Given the description of an element on the screen output the (x, y) to click on. 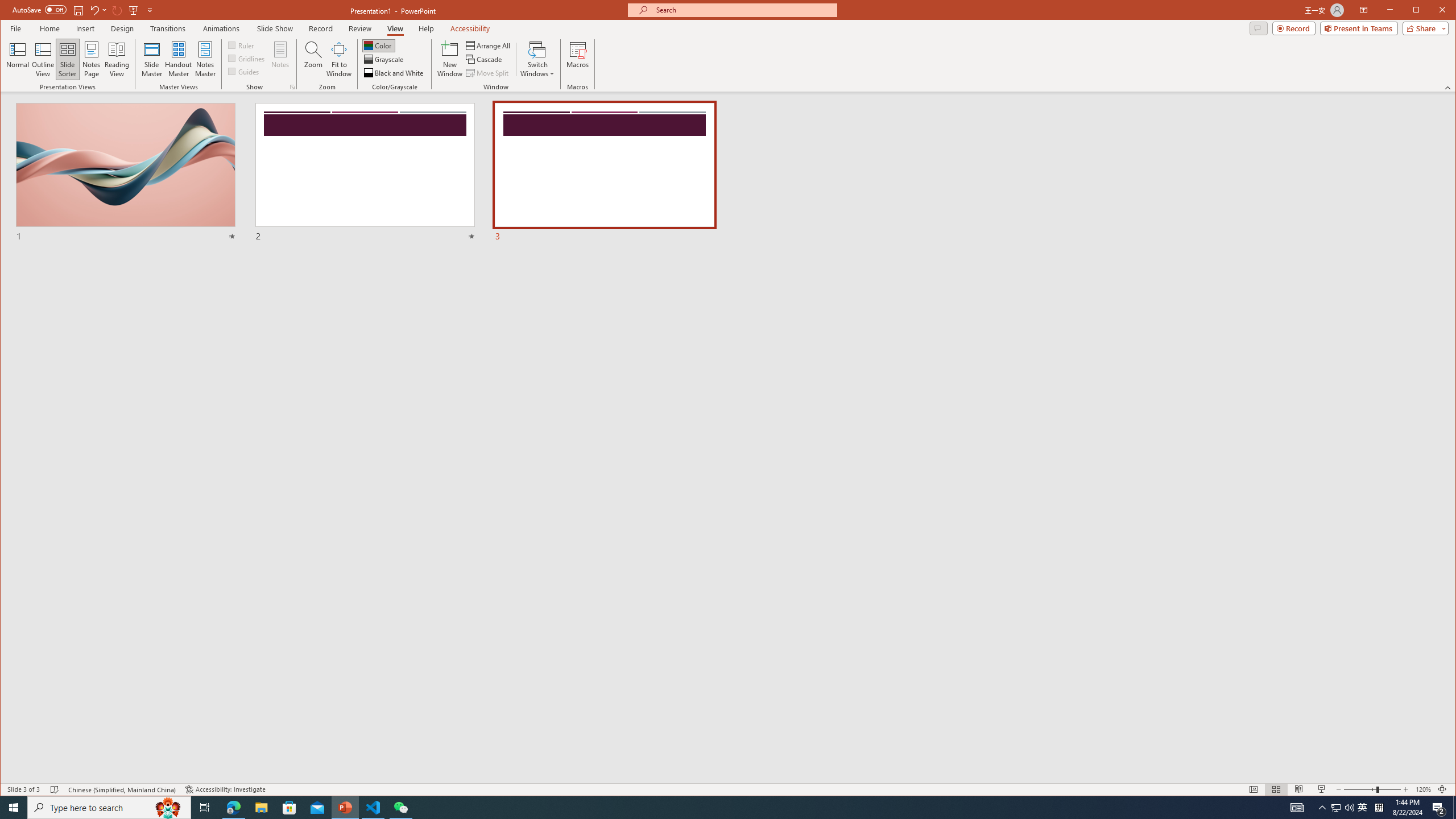
Black and White (394, 72)
Switch Windows (537, 59)
Macros (576, 59)
Cascade (484, 59)
Notes Master (204, 59)
